Given the description of an element on the screen output the (x, y) to click on. 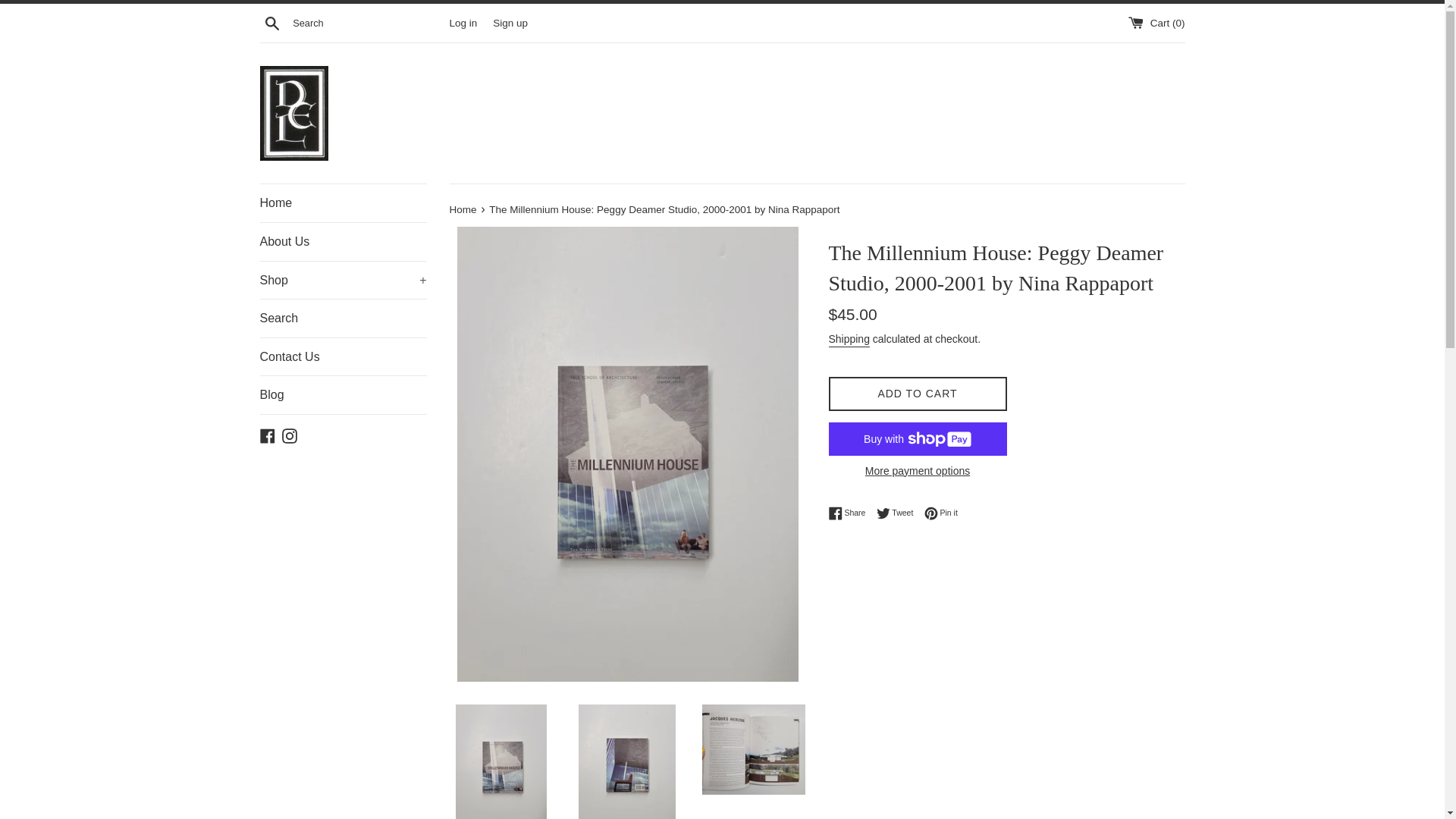
Search (271, 21)
About Us (342, 241)
Pin on Pinterest (941, 513)
Share on Facebook (850, 513)
Log in (462, 21)
Sign up (510, 21)
Tweet on Twitter (898, 513)
Home (342, 202)
Back to the frontpage (463, 209)
